Given the description of an element on the screen output the (x, y) to click on. 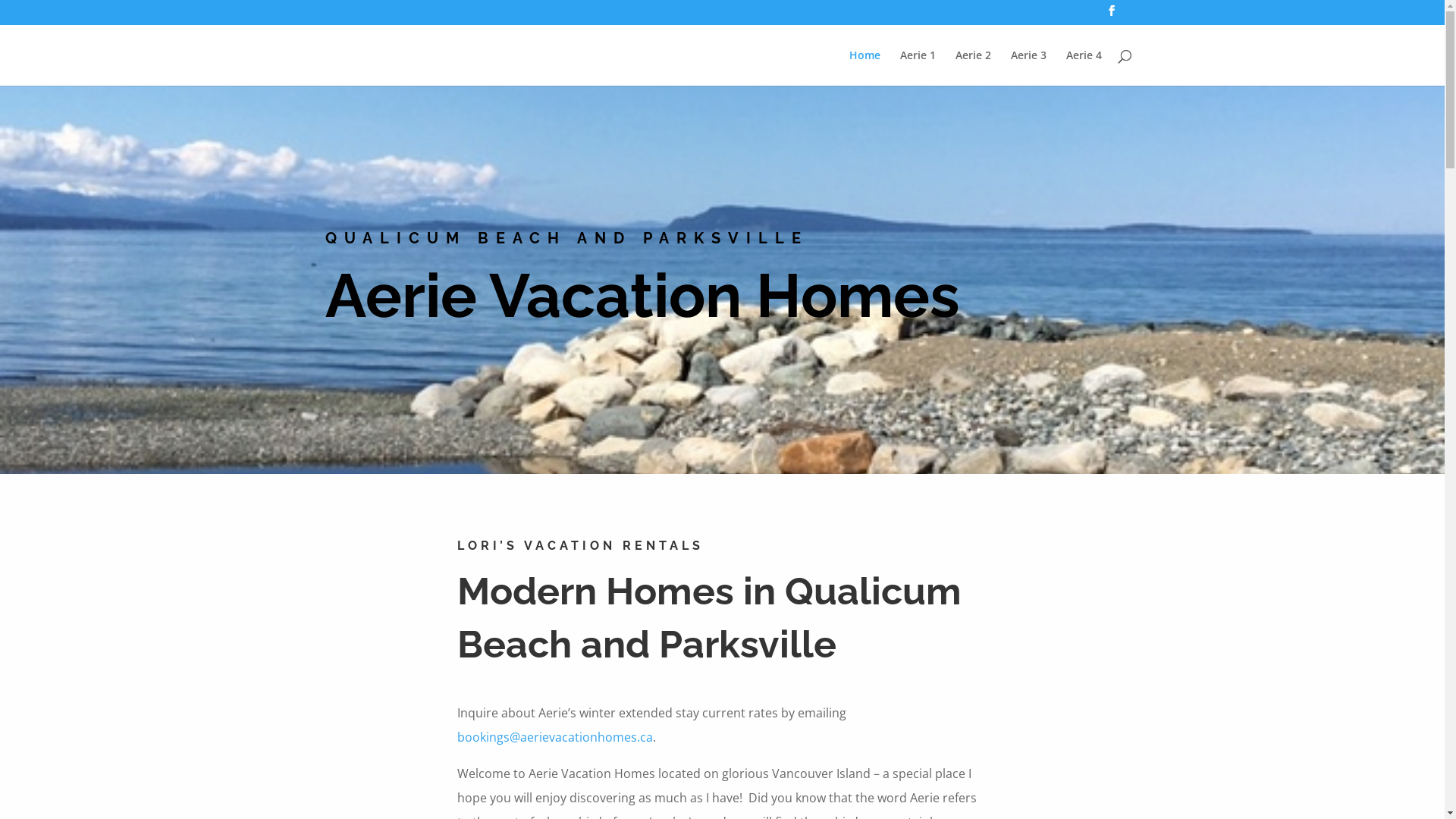
bookings@aerievacationhomes.ca Element type: text (554, 736)
Aerie 2 Element type: text (973, 67)
Home Element type: text (864, 67)
Aerie 4 Element type: text (1083, 67)
Aerie 3 Element type: text (1027, 67)
Aerie 1 Element type: text (917, 67)
